Given the description of an element on the screen output the (x, y) to click on. 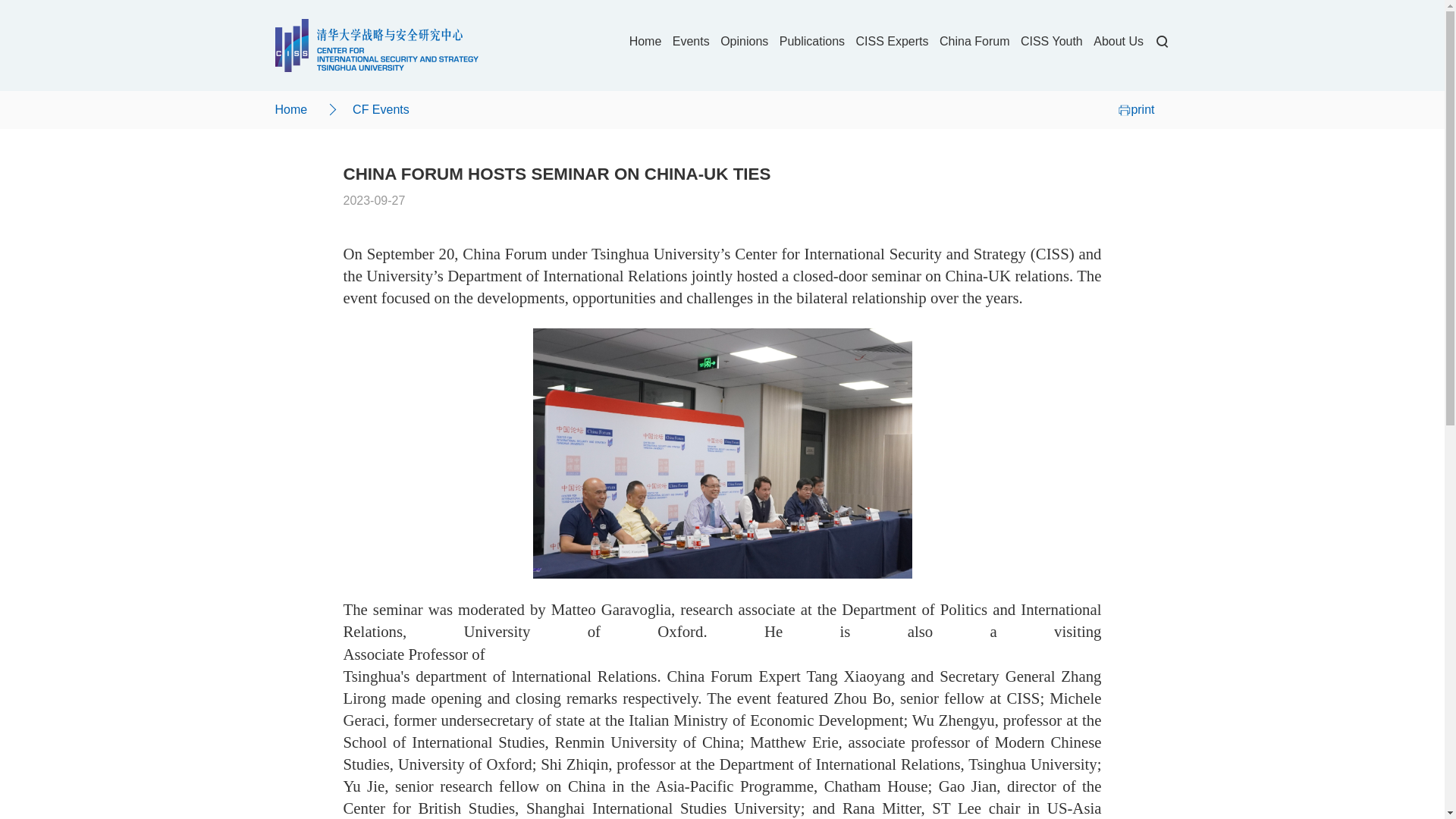
1695805406252063329.jpg (721, 453)
print (1136, 109)
About Us (1117, 41)
CF Events (380, 109)
Publications (811, 41)
Events (691, 41)
CISS Experts (892, 41)
Opinions (744, 41)
CISS Youth (1051, 41)
Home (645, 41)
Home (291, 109)
China Forum (974, 41)
